Given the description of an element on the screen output the (x, y) to click on. 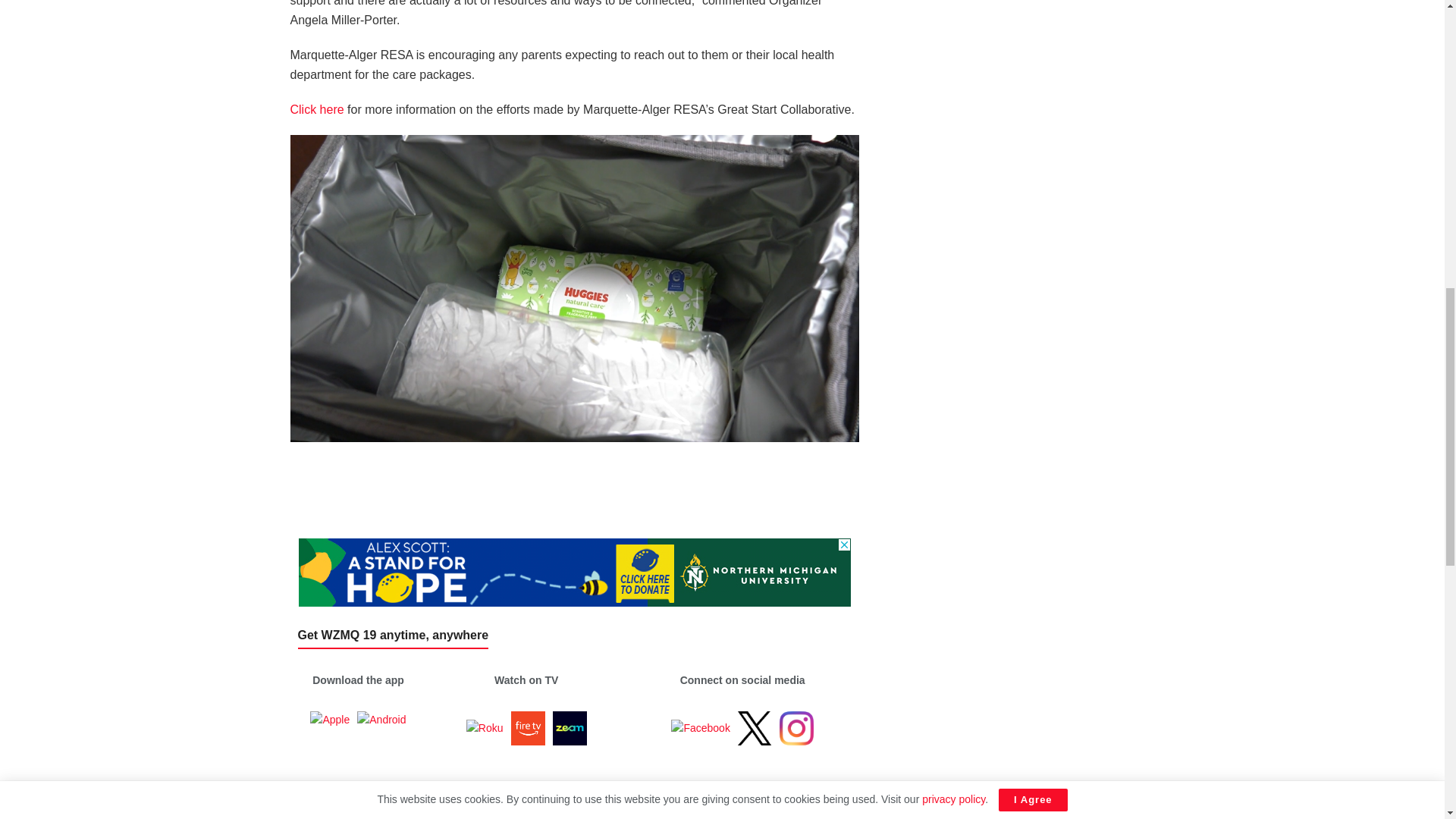
Vuukle Sharebar Widget (574, 474)
3rd party ad content (574, 572)
